Given the description of an element on the screen output the (x, y) to click on. 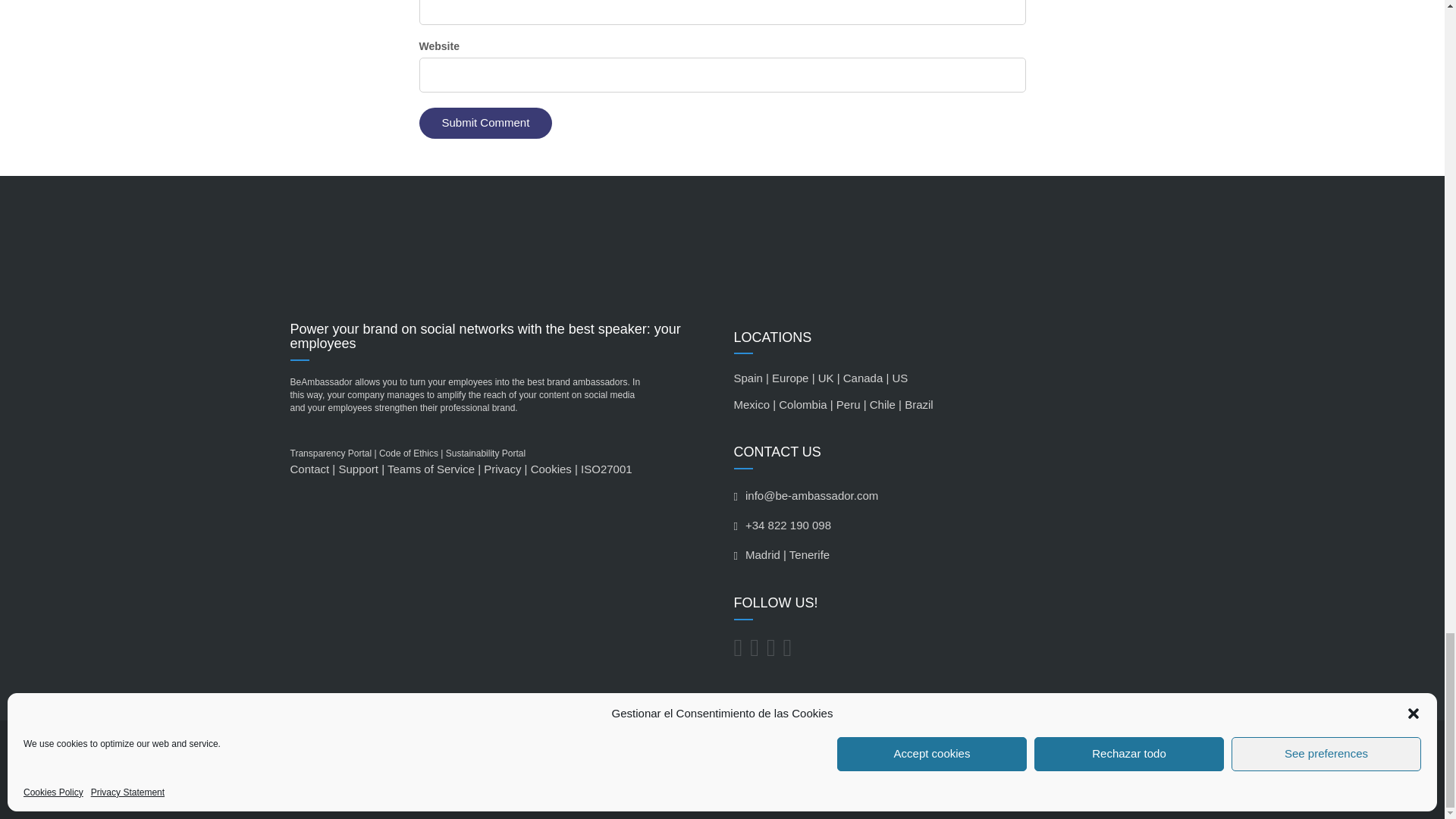
Submit Comment (485, 122)
